Given the description of an element on the screen output the (x, y) to click on. 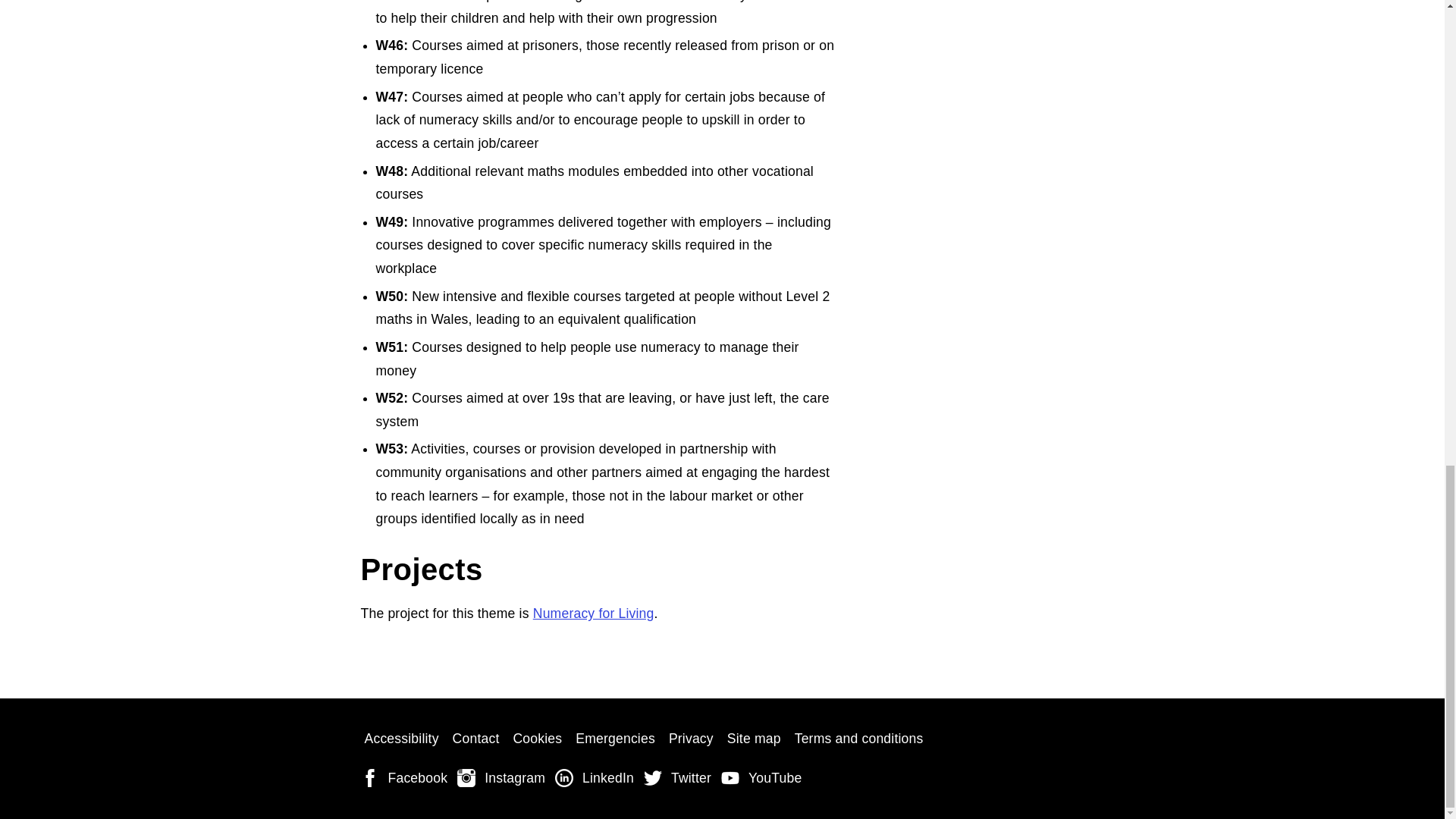
Facebook (406, 778)
Site map (753, 739)
Emergencies (615, 739)
Privacy (691, 739)
LinkedIn (595, 778)
Twitter (678, 778)
Contact (475, 739)
Accessibility (401, 739)
YouTube (762, 778)
Cookies (537, 739)
